Given the description of an element on the screen output the (x, y) to click on. 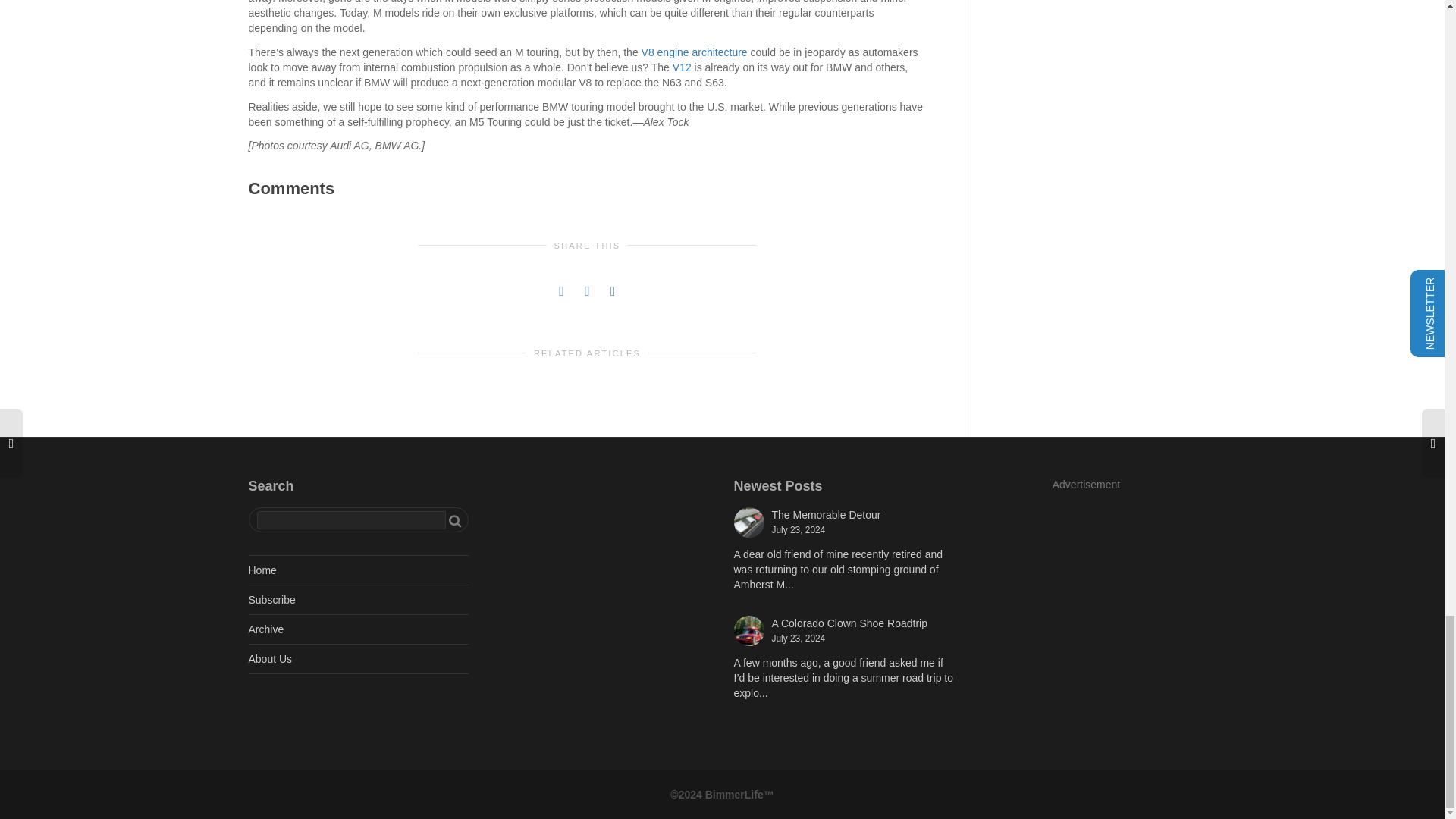
Search (454, 520)
V8 engine architecture (695, 51)
V12 (681, 67)
Search (454, 520)
